Given the description of an element on the screen output the (x, y) to click on. 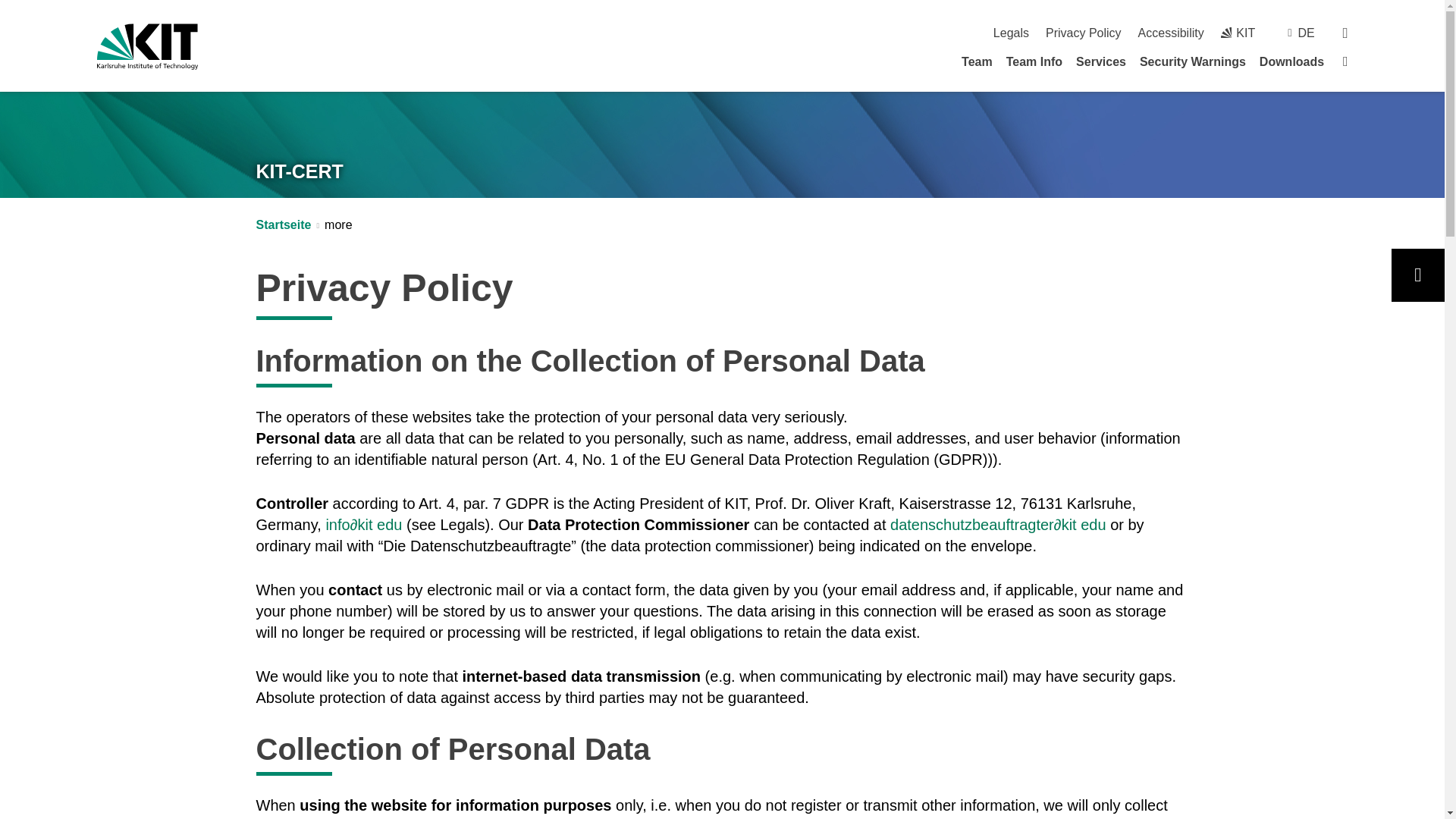
Team (976, 61)
Legals (1010, 32)
Downloads (1291, 61)
Security Warnings (1193, 61)
Privacy Policy (1083, 32)
KIT-CERT (299, 171)
Services (1100, 61)
KIT-CERT (299, 171)
Team Info (1034, 61)
KIT-Homepage (1238, 32)
DE (1305, 32)
Accessibility (1171, 32)
KIT-Homepage (147, 46)
KIT (1238, 32)
